Given the description of an element on the screen output the (x, y) to click on. 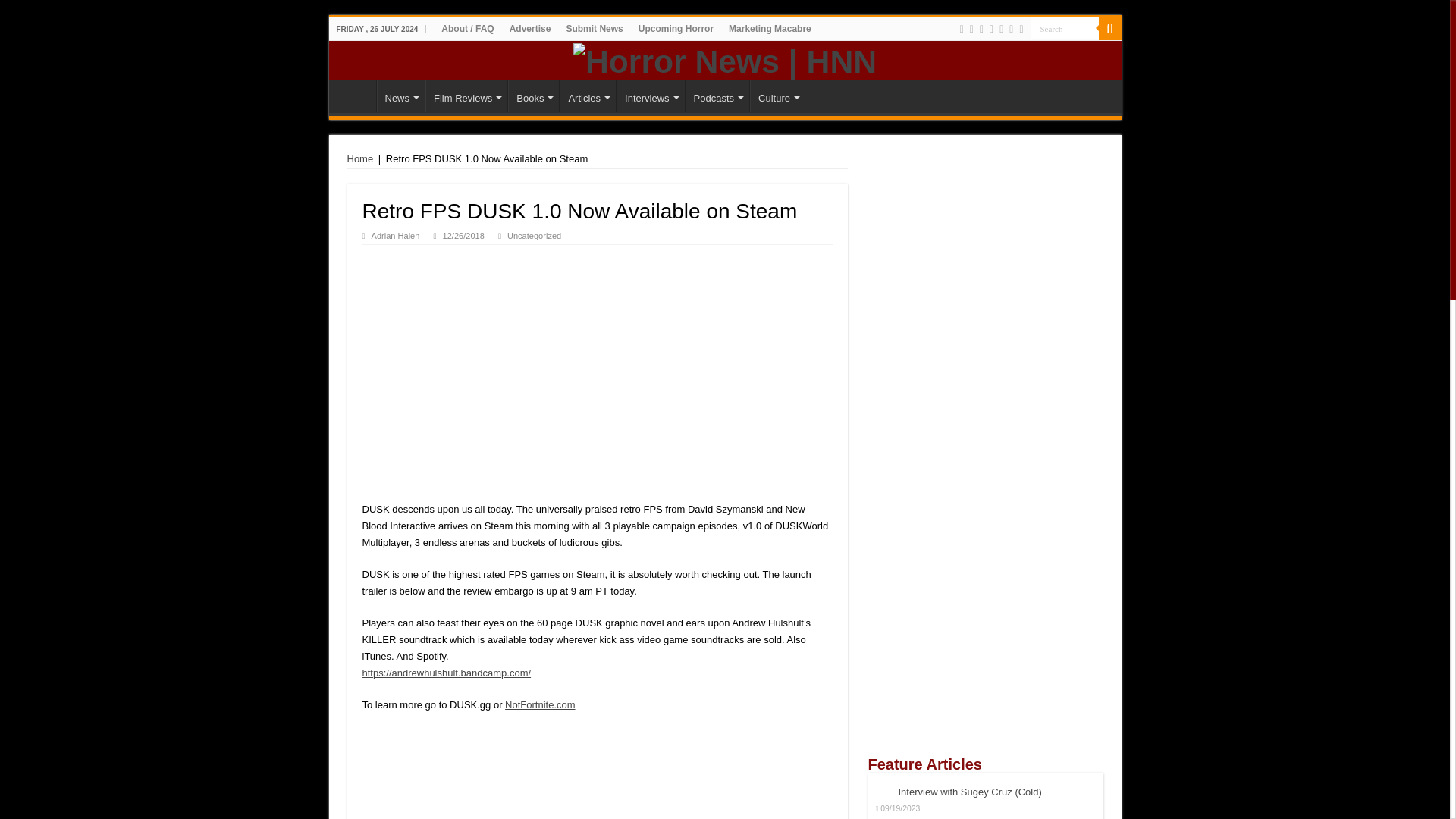
Marketing Macabre (769, 28)
Submit News to Horrornews.net (593, 28)
Advertise (530, 28)
Search (1063, 28)
Film Reviews (465, 96)
Search (1063, 28)
Submit News (593, 28)
Advertise on HorrorNews.net (530, 28)
HOME (355, 96)
News (400, 96)
Upcoming Horror (675, 28)
Search (1063, 28)
Search (1109, 28)
